Given the description of an element on the screen output the (x, y) to click on. 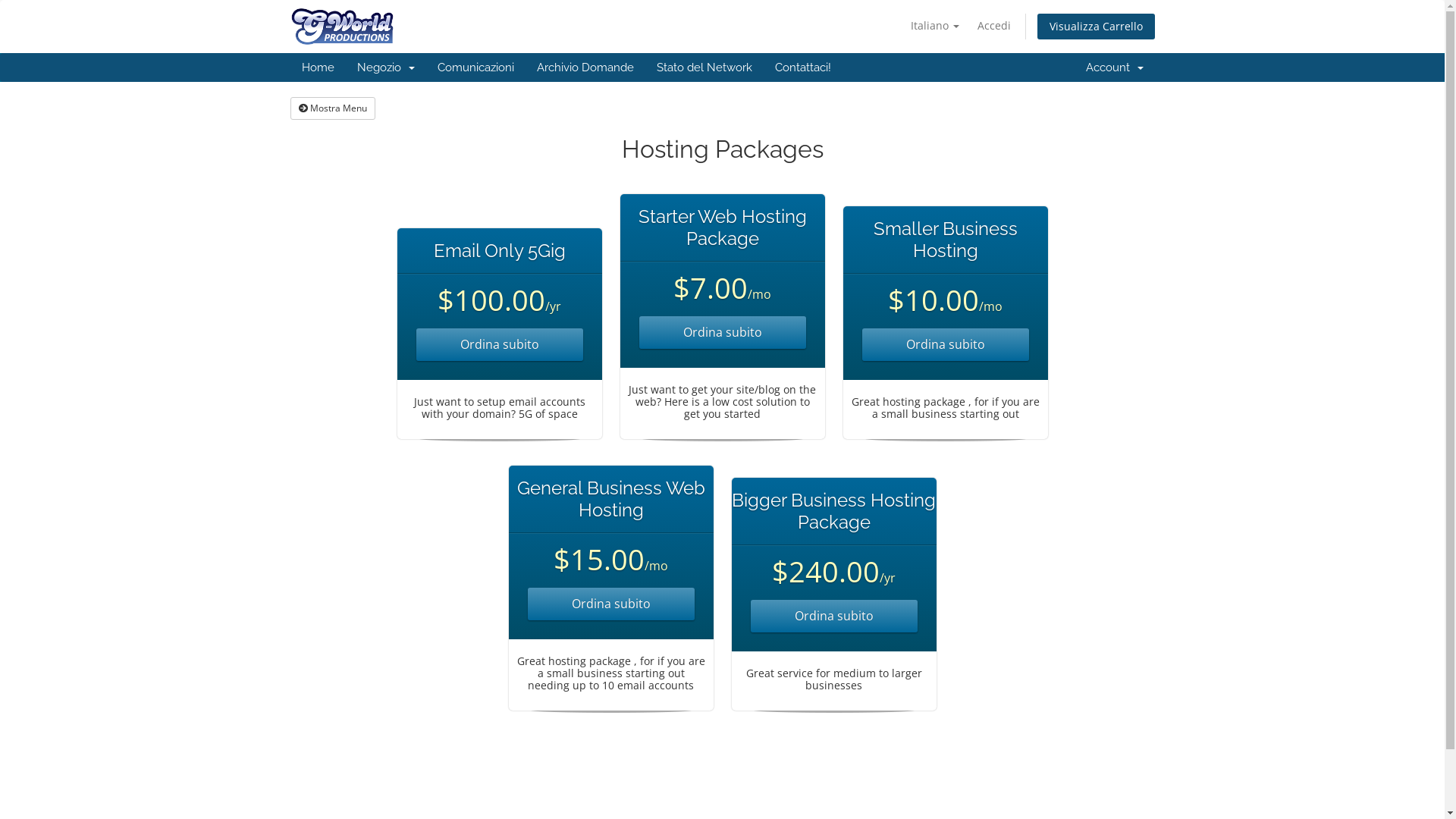
Ordina subito Element type: text (721, 332)
Accedi Element type: text (993, 25)
Stato del Network Element type: text (703, 67)
Archivio Domande Element type: text (584, 67)
Contattaci! Element type: text (801, 67)
Negozio   Element type: text (385, 67)
Mostra Menu Element type: text (331, 108)
Visualizza Carrello Element type: text (1095, 26)
Home Element type: text (317, 67)
Ordina subito Element type: text (944, 344)
Ordina subito Element type: text (498, 344)
Italiano Element type: text (934, 25)
Ordina subito Element type: text (610, 603)
Comunicazioni Element type: text (475, 67)
Account   Element type: text (1113, 67)
Ordina subito Element type: text (833, 615)
